Given the description of an element on the screen output the (x, y) to click on. 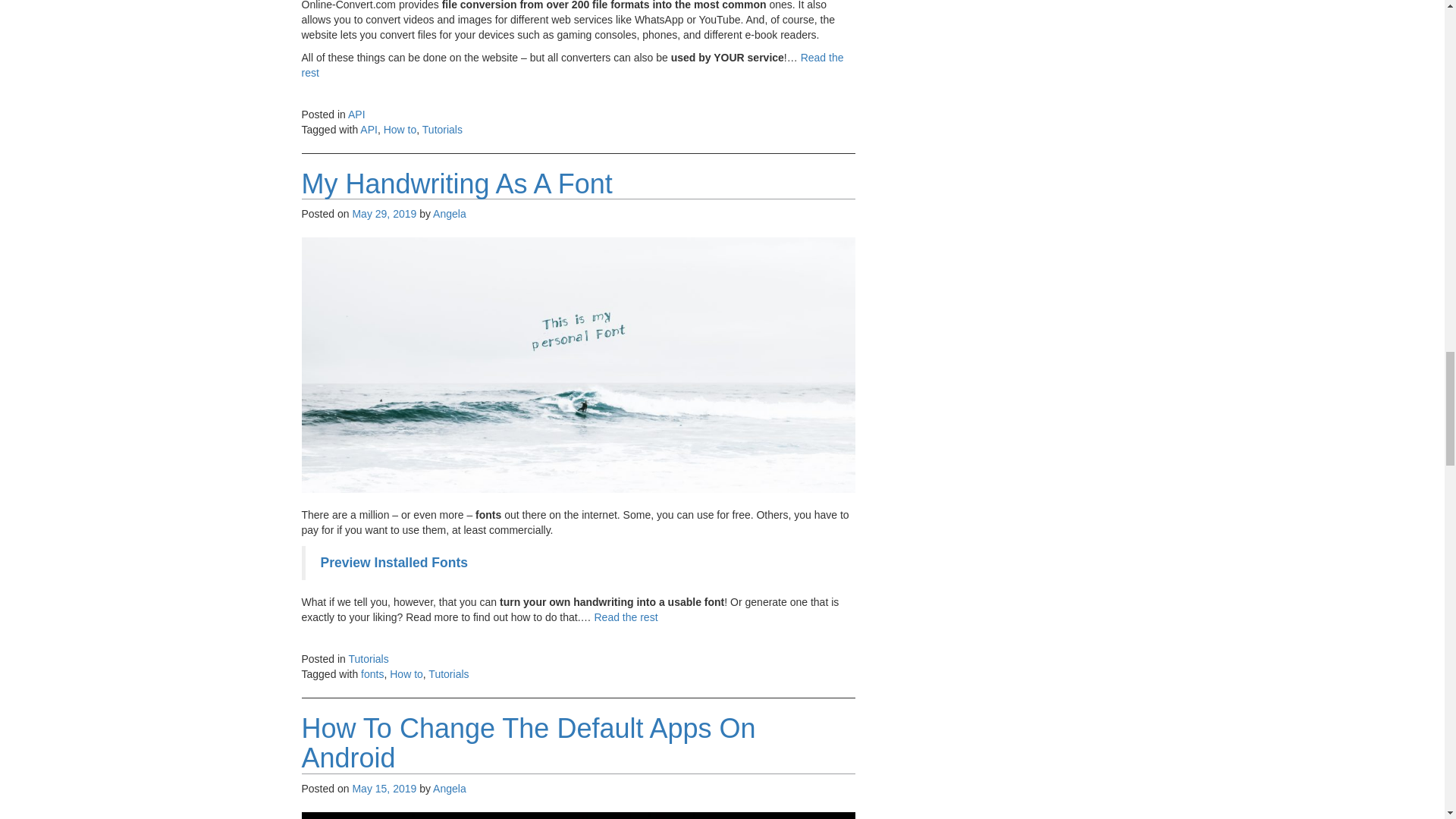
View all posts by Angela (448, 214)
17:50 (384, 214)
View all posts by Angela (448, 788)
18:30 (384, 788)
